Given the description of an element on the screen output the (x, y) to click on. 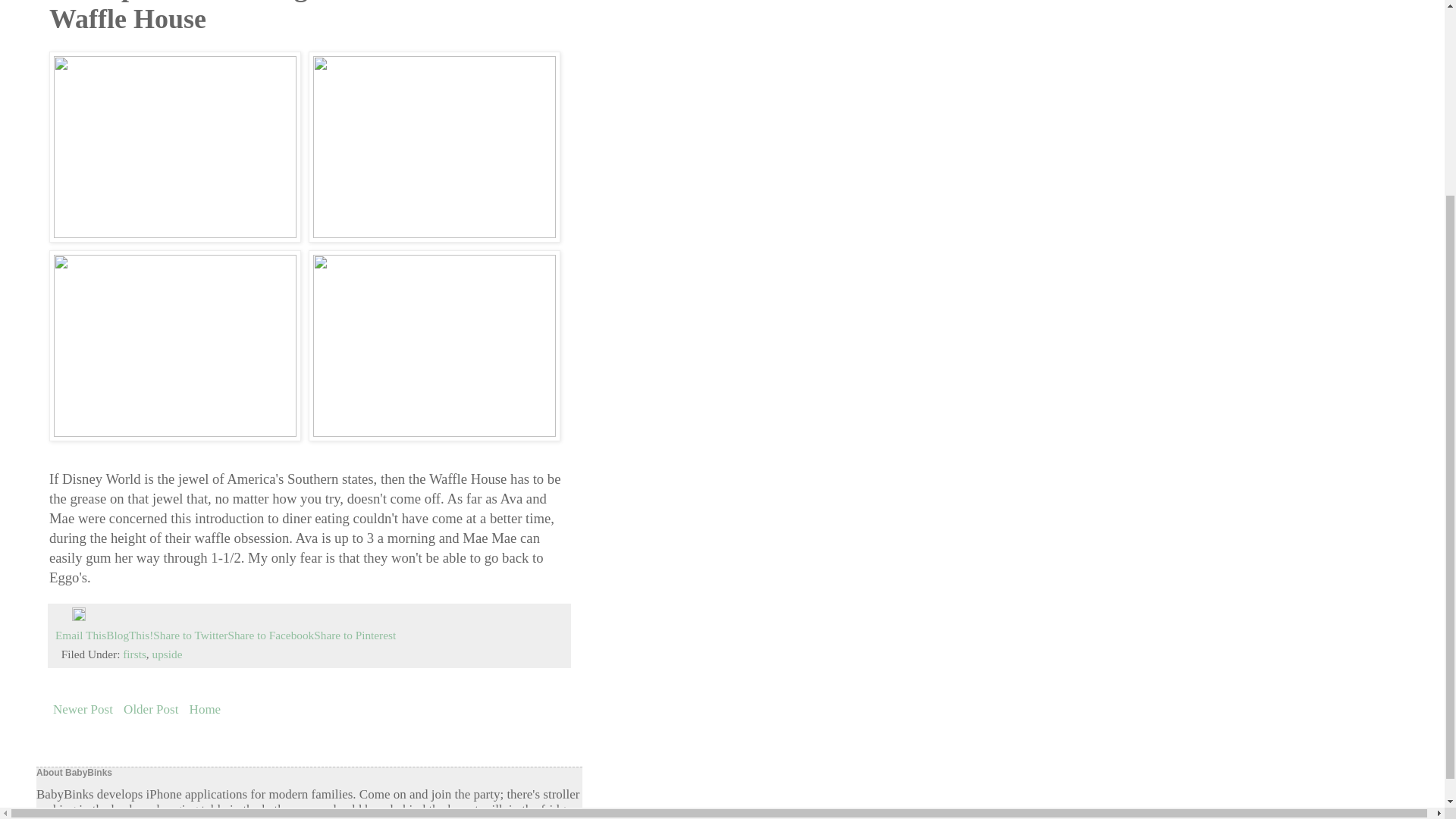
Share to Facebook (270, 634)
Older Post (150, 709)
Share to Facebook (270, 634)
firsts (134, 653)
Older Post (150, 709)
Edit Post (78, 616)
Share to Pinterest (355, 634)
Home (205, 709)
Email This (80, 634)
BlogThis! (129, 634)
